Given the description of an element on the screen output the (x, y) to click on. 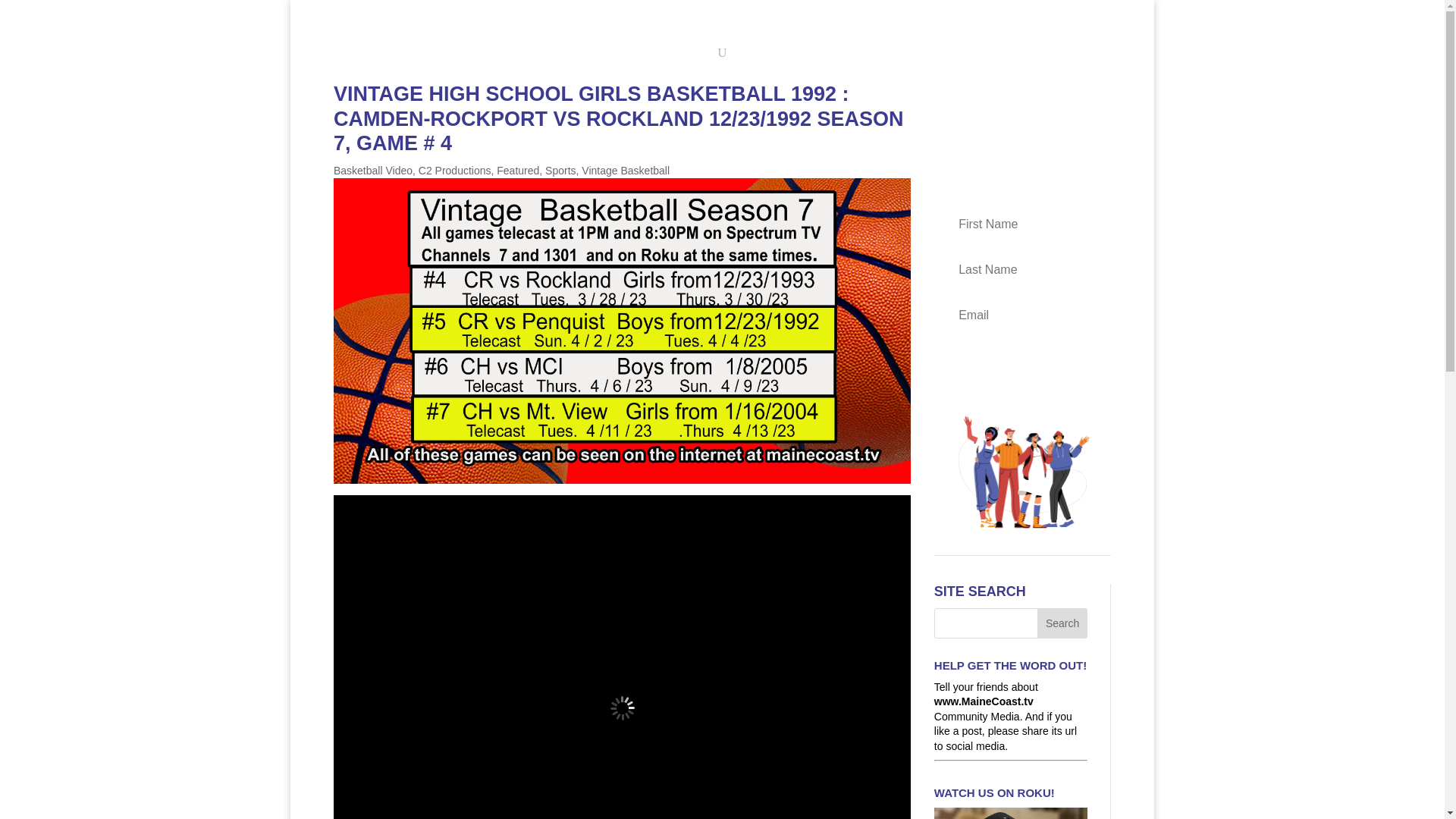
About (660, 36)
Basketball Video (372, 170)
Going Places (676, 13)
Chris Wolf (826, 13)
Search (1061, 623)
Rockland Metro (523, 13)
Kaja Veilleux (755, 13)
Maine SPORTS (423, 13)
Featured (517, 170)
Al Gardner (602, 13)
